Given the description of an element on the screen output the (x, y) to click on. 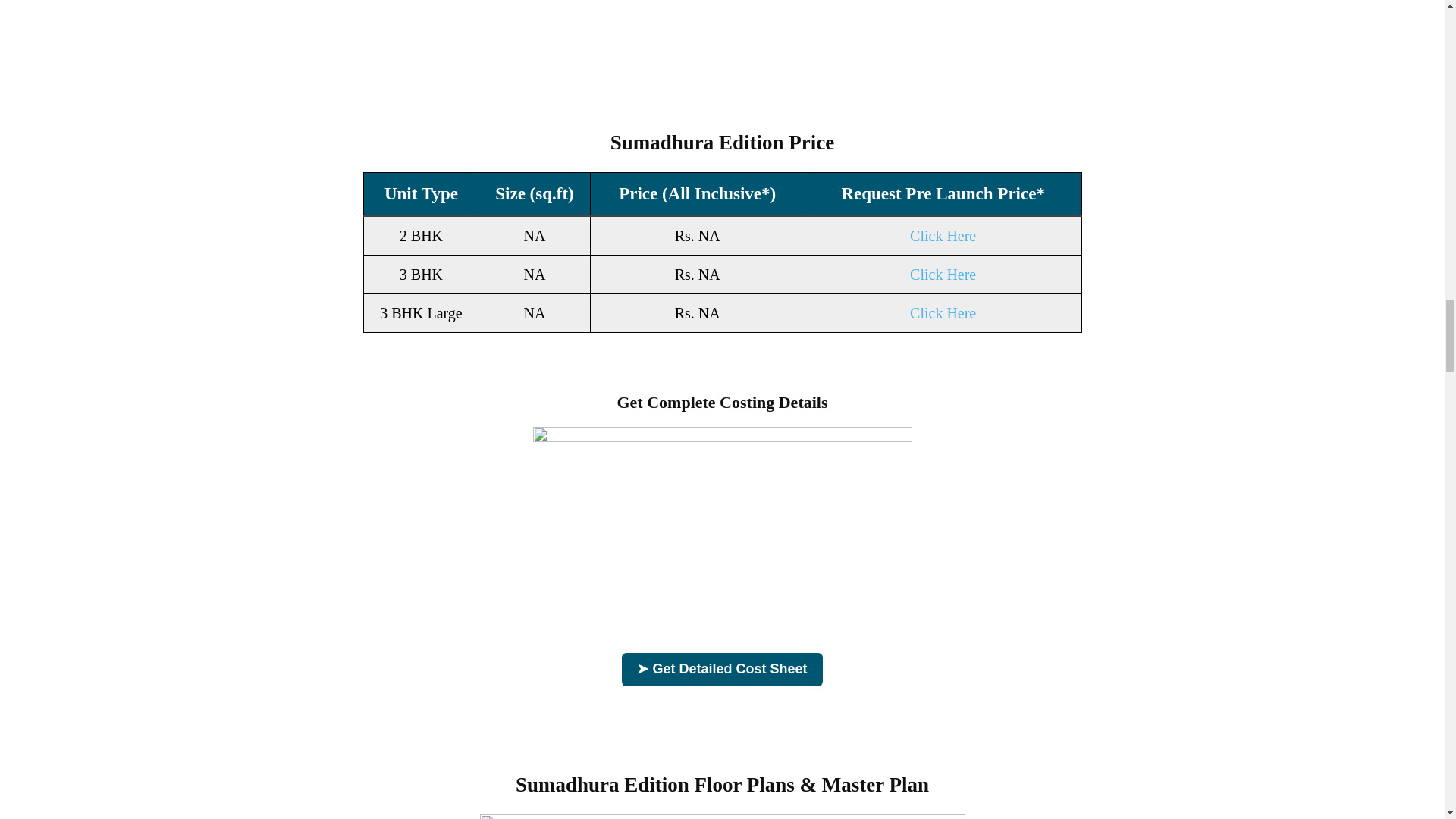
Click Here (942, 312)
Click Here (942, 274)
Click Here (942, 235)
